Given the description of an element on the screen output the (x, y) to click on. 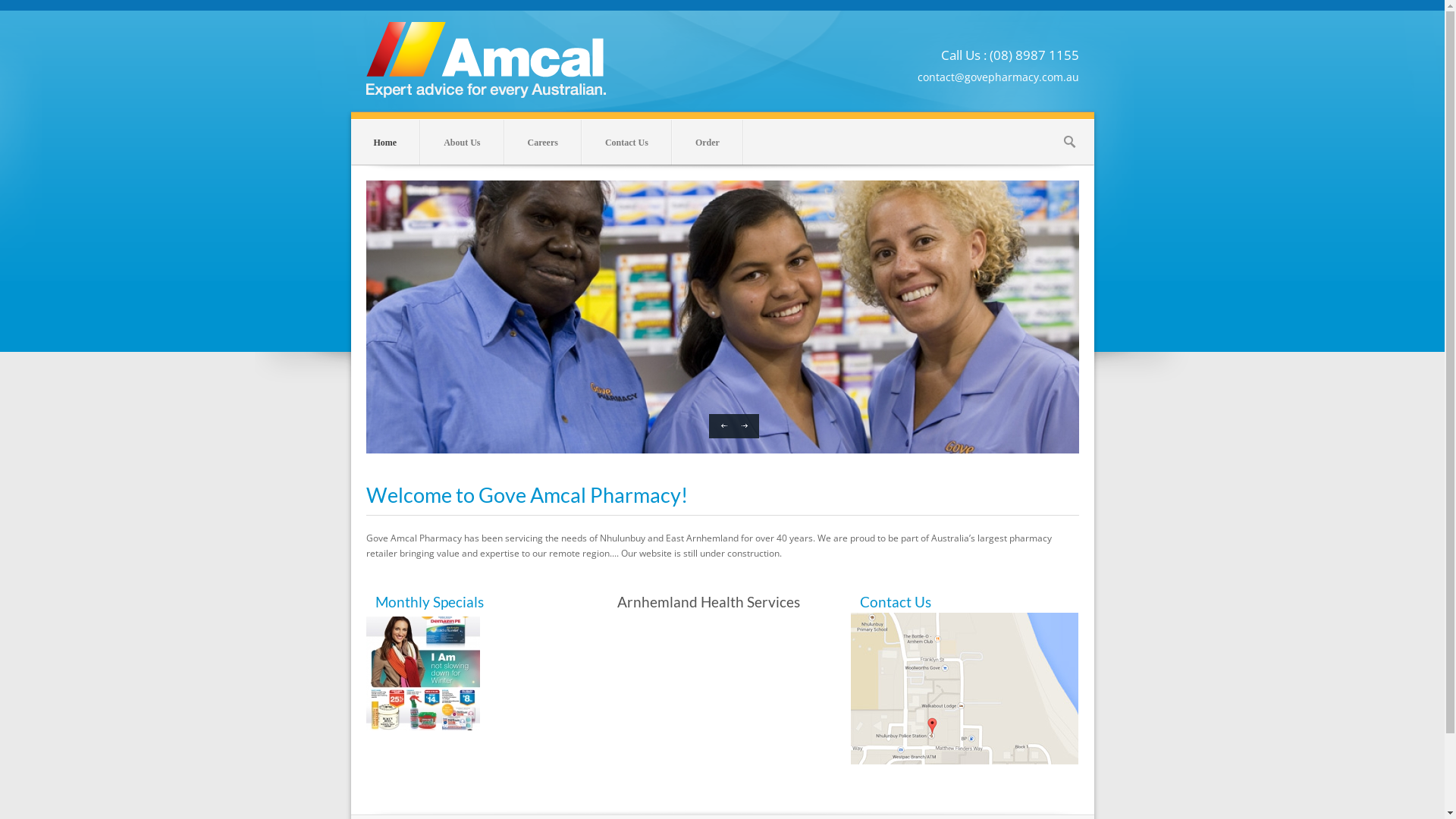
Home Element type: text (384, 142)
Contact Us Element type: text (895, 601)
Order Element type: text (707, 142)
Careers Element type: text (542, 142)
Contact Us Element type: text (626, 142)
About Us Element type: text (461, 142)
Monthly Specials Element type: text (428, 601)
